Given the description of an element on the screen output the (x, y) to click on. 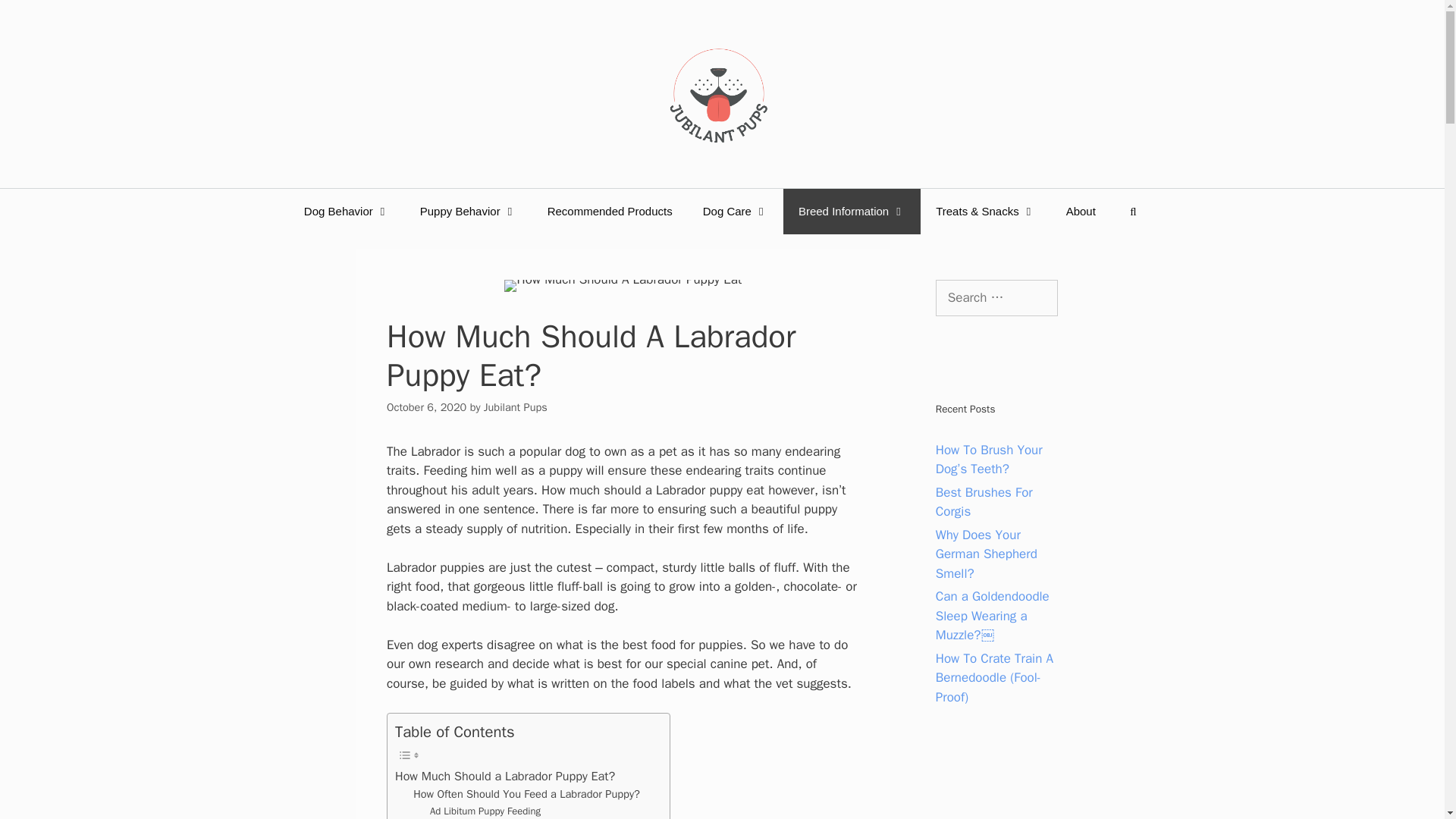
How Often Should You Feed a Labrador Puppy? (526, 794)
Ad Libitum Puppy Feeding (484, 811)
How Much Should a Labrador Puppy Eat? (504, 776)
Dog Behavior (346, 211)
View all posts by Jubilant Pups (515, 407)
Puppy Behavior (468, 211)
